Given the description of an element on the screen output the (x, y) to click on. 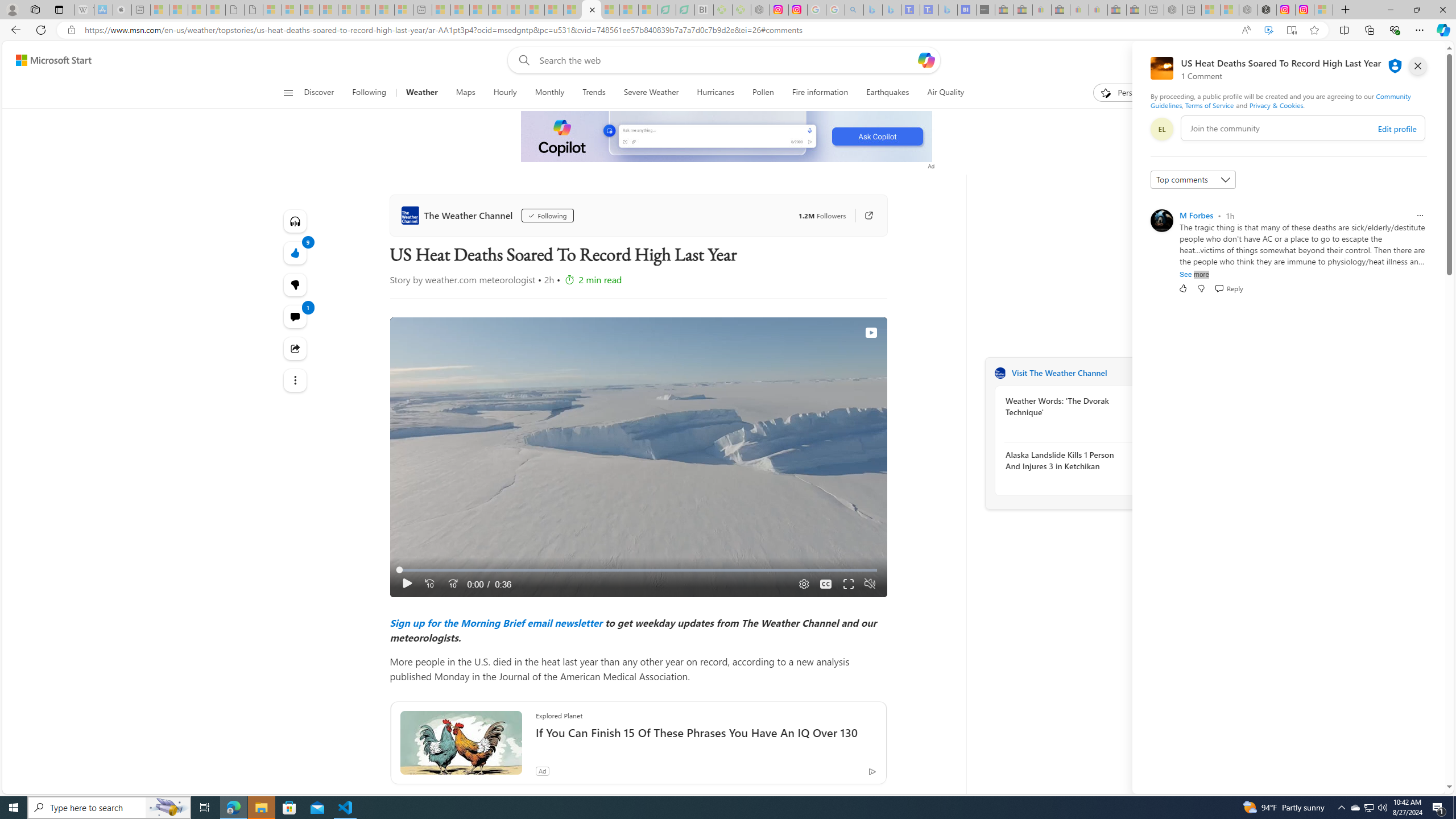
Monthly (549, 92)
Yard, Garden & Outdoor Living - Sleeping (1135, 9)
Nordace - Nordace Edin Collection - Sleeping (759, 9)
Share this story (295, 348)
Air Quality (940, 92)
Open settings (1420, 60)
Pollen (763, 92)
View on Watch (870, 332)
Sign up for the Morning Brief email newsletter (496, 621)
